Given the description of an element on the screen output the (x, y) to click on. 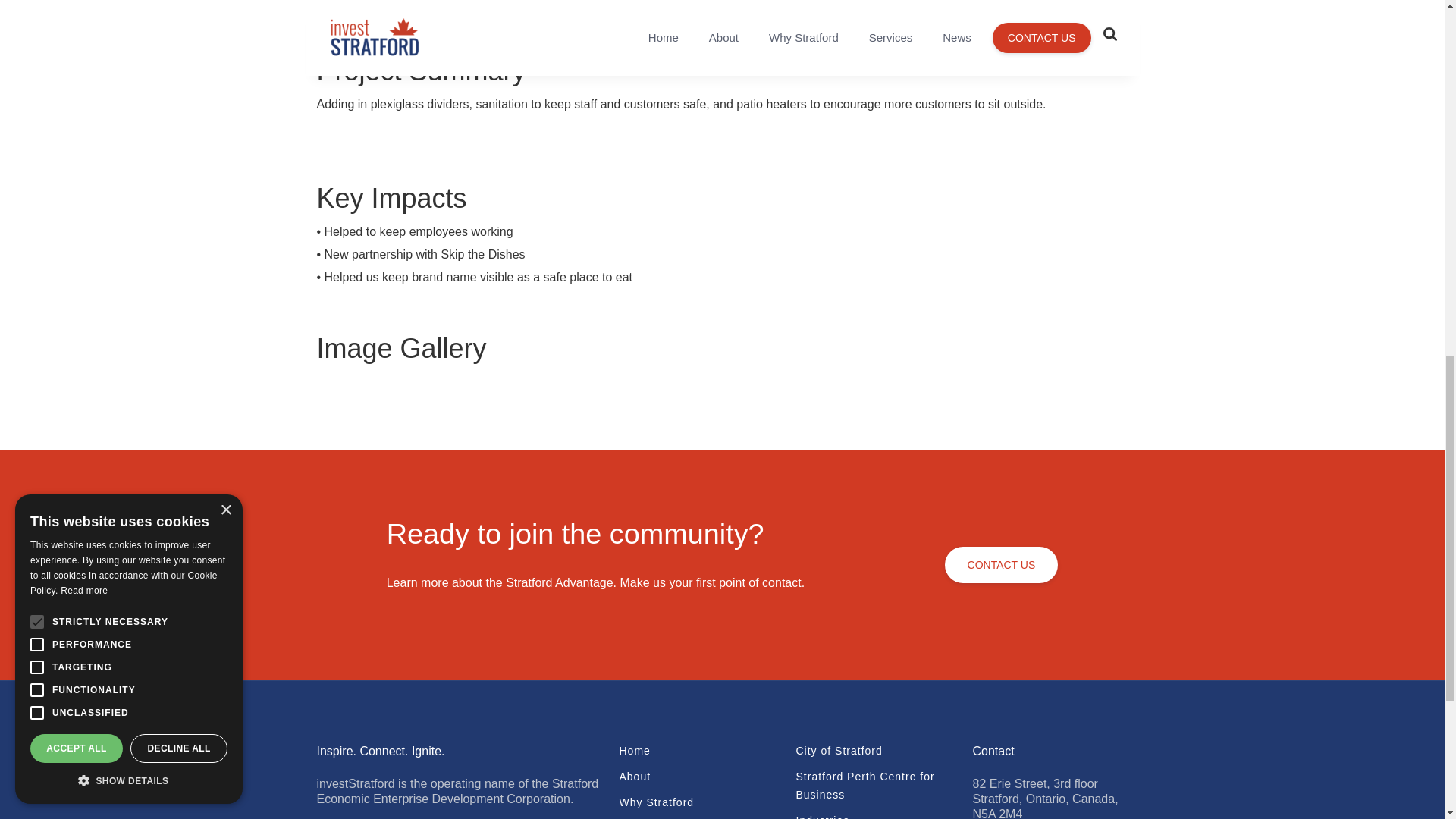
About (697, 776)
Home (697, 751)
Why Stratford (697, 802)
CONTACT US (1001, 565)
